Given the description of an element on the screen output the (x, y) to click on. 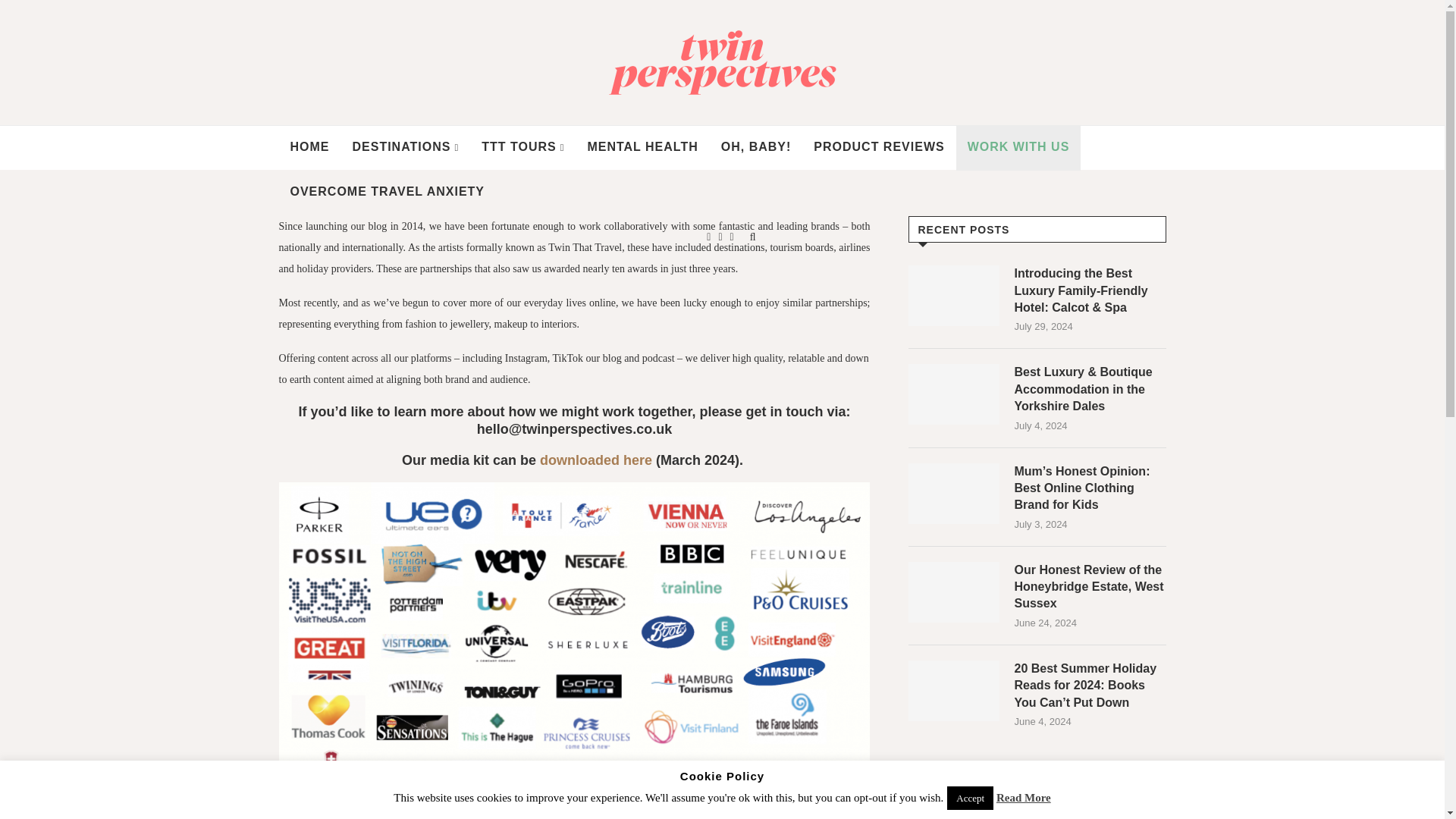
Our Honest Review of the Honeybridge Estate, West Sussex (953, 591)
MENTAL HEALTH (642, 147)
Our Honest Review of the Honeybridge Estate, West Sussex (1090, 586)
OVERCOME TRAVEL ANXIETY (387, 192)
WORK WITH US (1018, 147)
HOME (309, 147)
OH, BABY! (756, 147)
DESTINATIONS (405, 147)
TTT TOURS (522, 147)
PRODUCT REVIEWS (878, 147)
